Given the description of an element on the screen output the (x, y) to click on. 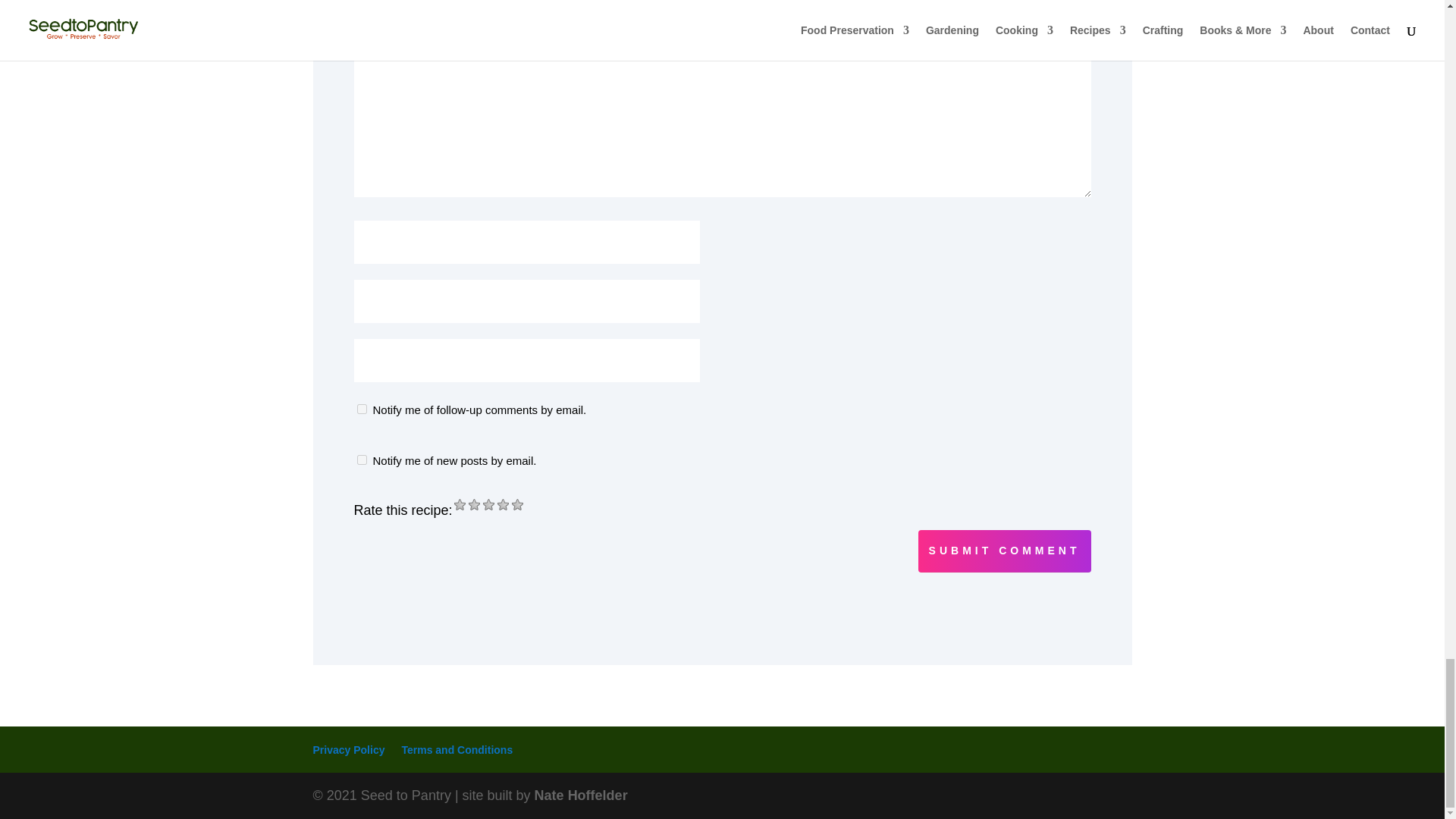
subscribe (361, 460)
subscribe (361, 409)
